Given the description of an element on the screen output the (x, y) to click on. 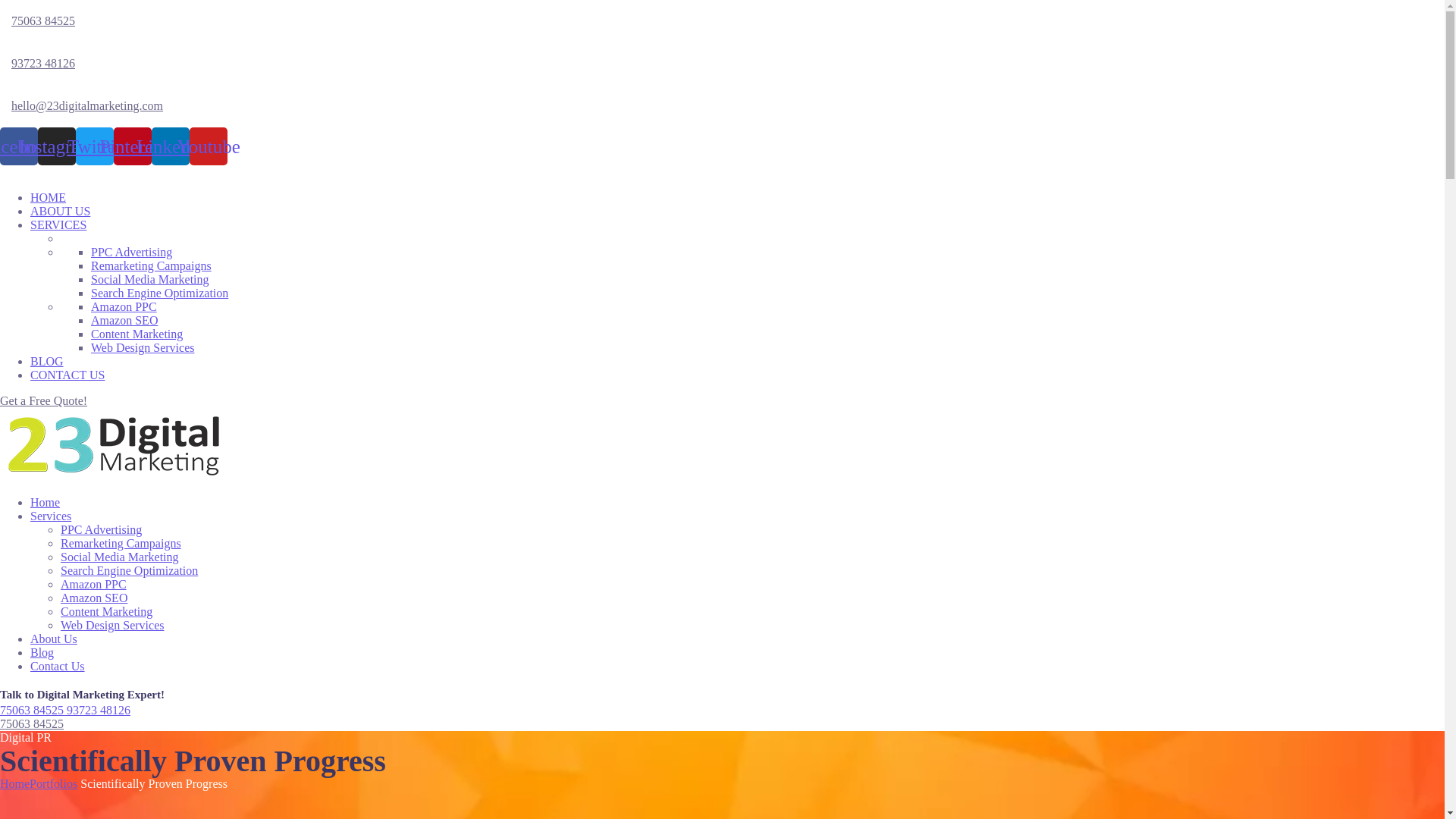
Remarketing Campaigns Element type: text (120, 542)
HOME Element type: text (47, 197)
Home Element type: text (14, 783)
Twitter Element type: text (94, 146)
ABOUT US Element type: text (60, 210)
Search Engine Optimization Element type: text (159, 292)
Services Element type: text (50, 515)
CONTACT US Element type: text (67, 374)
Content Marketing Element type: text (136, 333)
93723 48126 Element type: text (43, 62)
Facebook Element type: text (18, 146)
75063 84525 Element type: text (33, 709)
SERVICES Element type: text (58, 224)
Amazon PPC Element type: text (123, 306)
Remarketing Campaigns Element type: text (151, 265)
Social Media Marketing Element type: text (119, 556)
23DM LOGO 300x100 Element type: hover (113, 445)
PPC Advertising Element type: text (100, 529)
PPC Advertising Element type: text (131, 251)
Social Media Marketing Element type: text (150, 279)
Instagram Element type: text (56, 146)
Amazon SEO Element type: text (124, 319)
75063 84525 Element type: text (43, 20)
Portfolios Element type: text (53, 783)
Amazon SEO Element type: text (93, 597)
Home Element type: text (44, 501)
Linkedin Element type: text (170, 146)
Contact Us Element type: text (57, 665)
BLOG Element type: text (46, 360)
Search Engine Optimization Element type: text (128, 570)
hello@23digitalmarketing.com Element type: text (87, 105)
About Us Element type: text (53, 638)
Amazon PPC Element type: text (93, 583)
Get a Free Quote! Element type: text (43, 400)
Web Design Services Element type: text (111, 624)
Pinterest Element type: text (132, 146)
Blog Element type: text (41, 652)
75063 84525 Element type: text (31, 723)
93723 48126 Element type: text (98, 709)
Content Marketing Element type: text (106, 611)
Youtube Element type: text (208, 146)
Web Design Services Element type: text (142, 347)
